Given the description of an element on the screen output the (x, y) to click on. 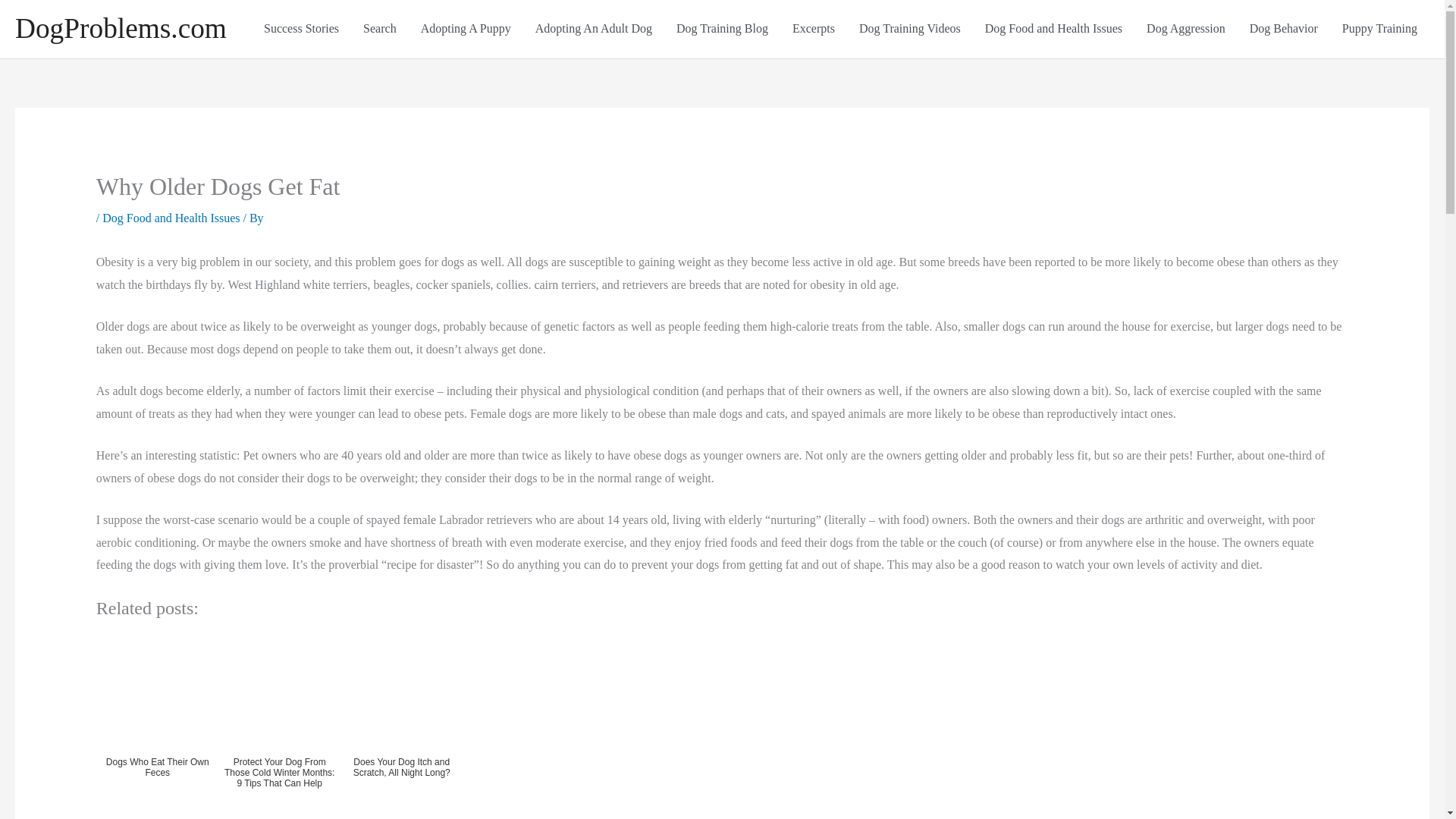
Search (379, 28)
Dog Training Videos (909, 28)
Dog Aggression (1185, 28)
Dog Training Blog (721, 28)
Dog Food and Health Issues (1053, 28)
Dog Behavior (1283, 28)
Puppy Training (1379, 28)
DogProblems.com (120, 28)
Adopting An Adult Dog (592, 28)
Excerpts (813, 28)
Adopting A Puppy (465, 28)
Dog Food and Health Issues (170, 217)
Success Stories (300, 28)
